Given the description of an element on the screen output the (x, y) to click on. 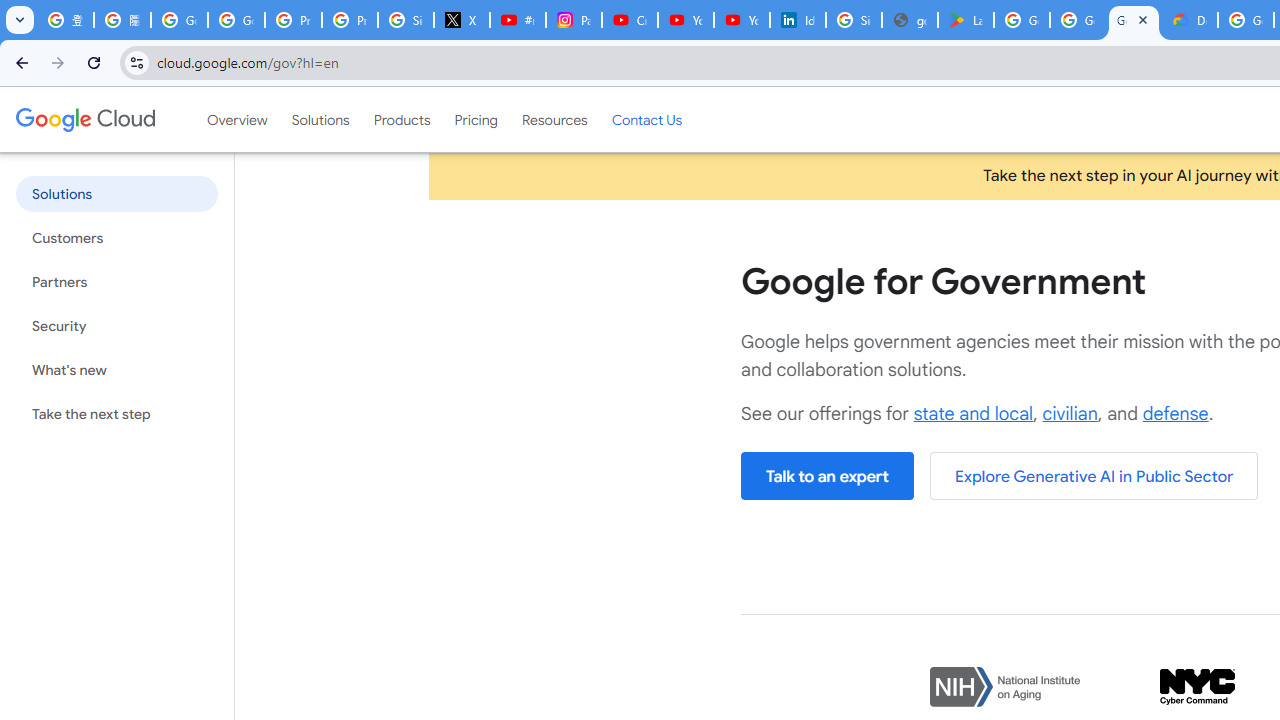
Products (401, 119)
state and local (973, 413)
NIA (1005, 687)
Google Workspace - Specific Terms (1077, 20)
Explore Generative AI in Public Sector (1094, 475)
Sign in - Google Accounts (405, 20)
Take the next step (116, 414)
google_privacy_policy_en.pdf (909, 20)
